Given the description of an element on the screen output the (x, y) to click on. 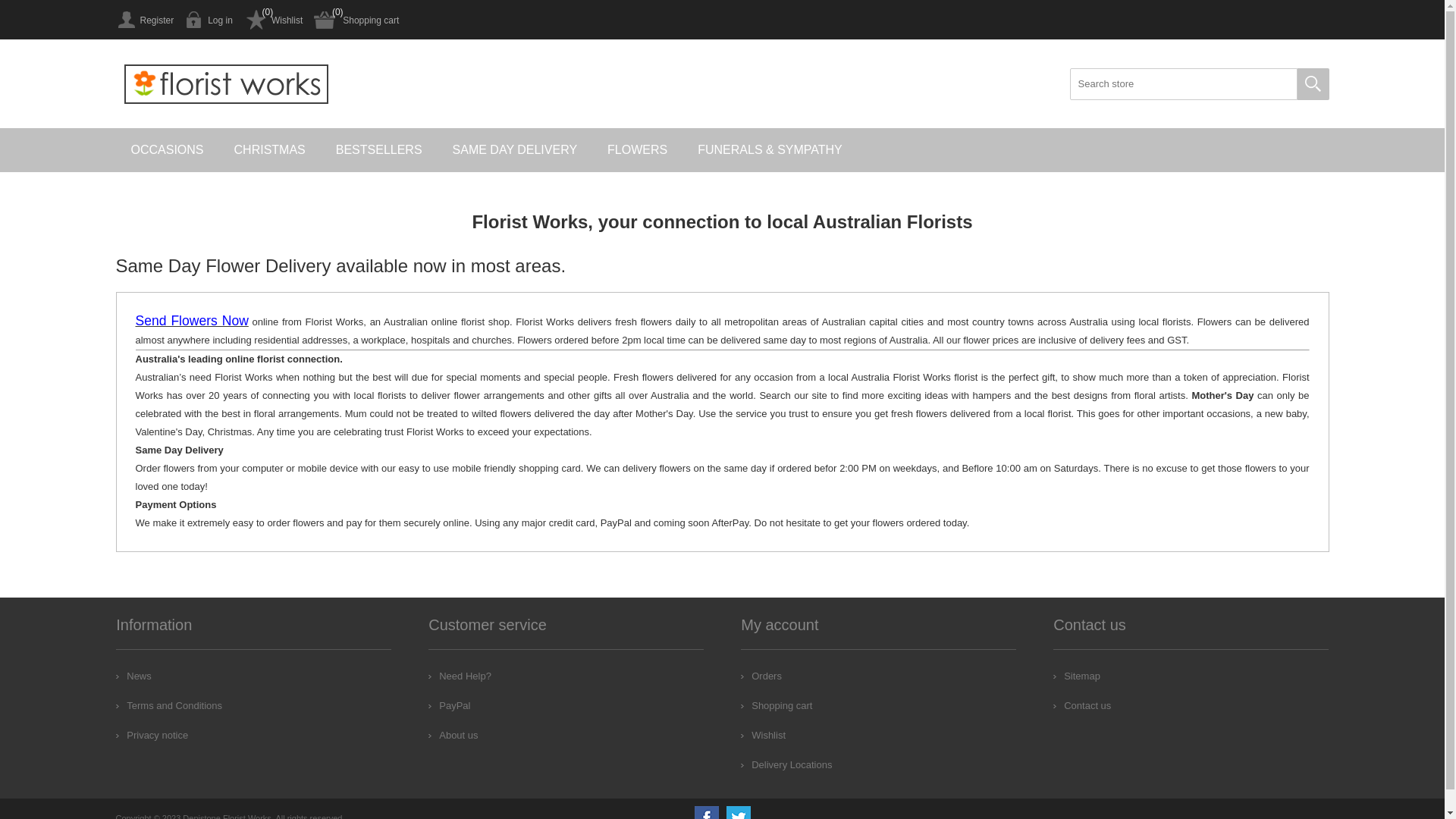
CHRISTMAS Element type: text (269, 150)
Log in Element type: text (208, 19)
Register Element type: text (144, 19)
Shopping cart Element type: text (355, 19)
PayPal Element type: text (449, 705)
Shopping cart Element type: text (776, 705)
OCCASIONS Element type: text (166, 150)
Privacy notice Element type: text (152, 734)
SAME DAY DELIVERY Element type: text (515, 150)
FLOWERS Element type: text (637, 150)
FUNERALS & SYMPATHY Element type: text (769, 150)
Wishlist Element type: text (273, 19)
Search Element type: text (1312, 84)
Sitemap Element type: text (1076, 675)
News Element type: text (133, 675)
Need Help? Element type: text (459, 675)
Terms and Conditions Element type: text (169, 705)
About us Element type: text (452, 734)
Wishlist Element type: text (762, 734)
Delivery Locations Element type: text (785, 764)
Contact us Element type: text (1081, 705)
Orders Element type: text (760, 675)
Send Flowers Now Element type: text (190, 321)
BESTSELLERS Element type: text (378, 150)
